Given the description of an element on the screen output the (x, y) to click on. 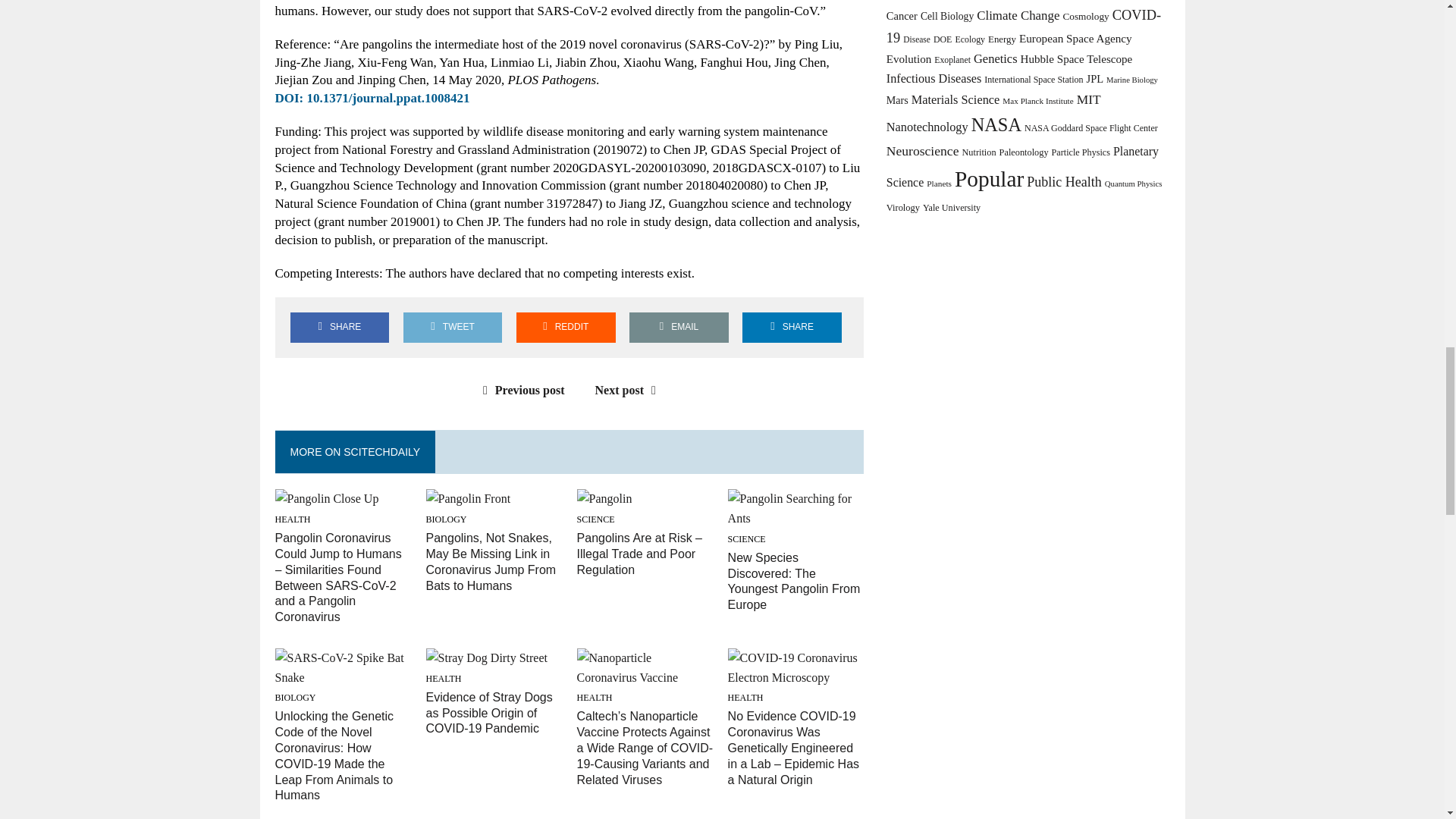
SHARE (338, 327)
TWEET (452, 327)
Tweet This Article (452, 327)
Share on Facebook (338, 327)
Share on LinkedIn (791, 327)
Post This Article to Reddit (565, 327)
EMAIL (678, 327)
REDDIT (565, 327)
